Given the description of an element on the screen output the (x, y) to click on. 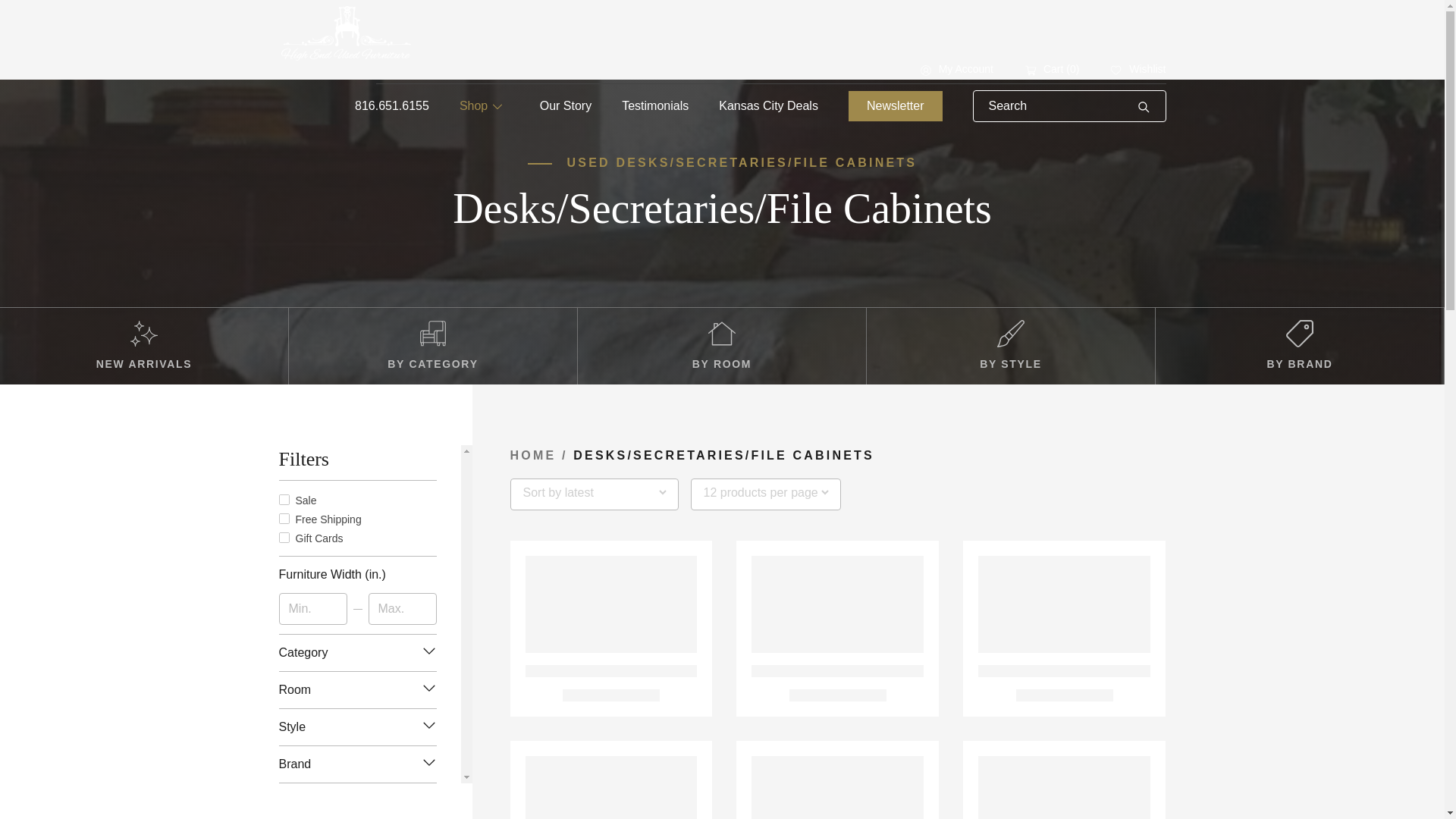
Our Story (565, 105)
Shop (484, 106)
Testimonials (654, 105)
Newsletter (895, 105)
Kansas City Deals (768, 105)
816.651.6155 (392, 105)
My Account (955, 69)
Submit (1143, 106)
Wishlist (1137, 69)
